Given the description of an element on the screen output the (x, y) to click on. 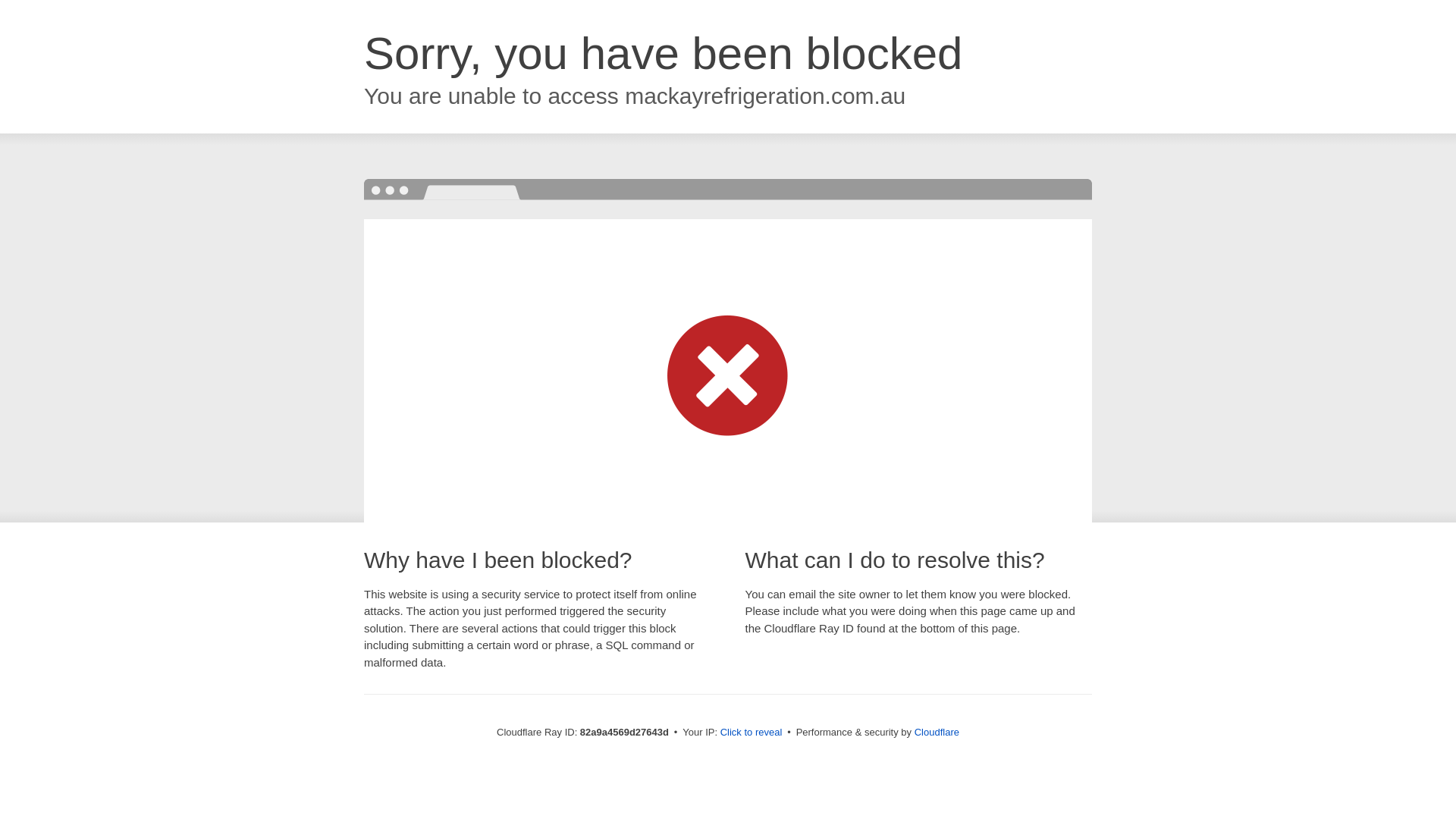
Cloudflare Element type: text (936, 731)
Click to reveal Element type: text (751, 732)
